Given the description of an element on the screen output the (x, y) to click on. 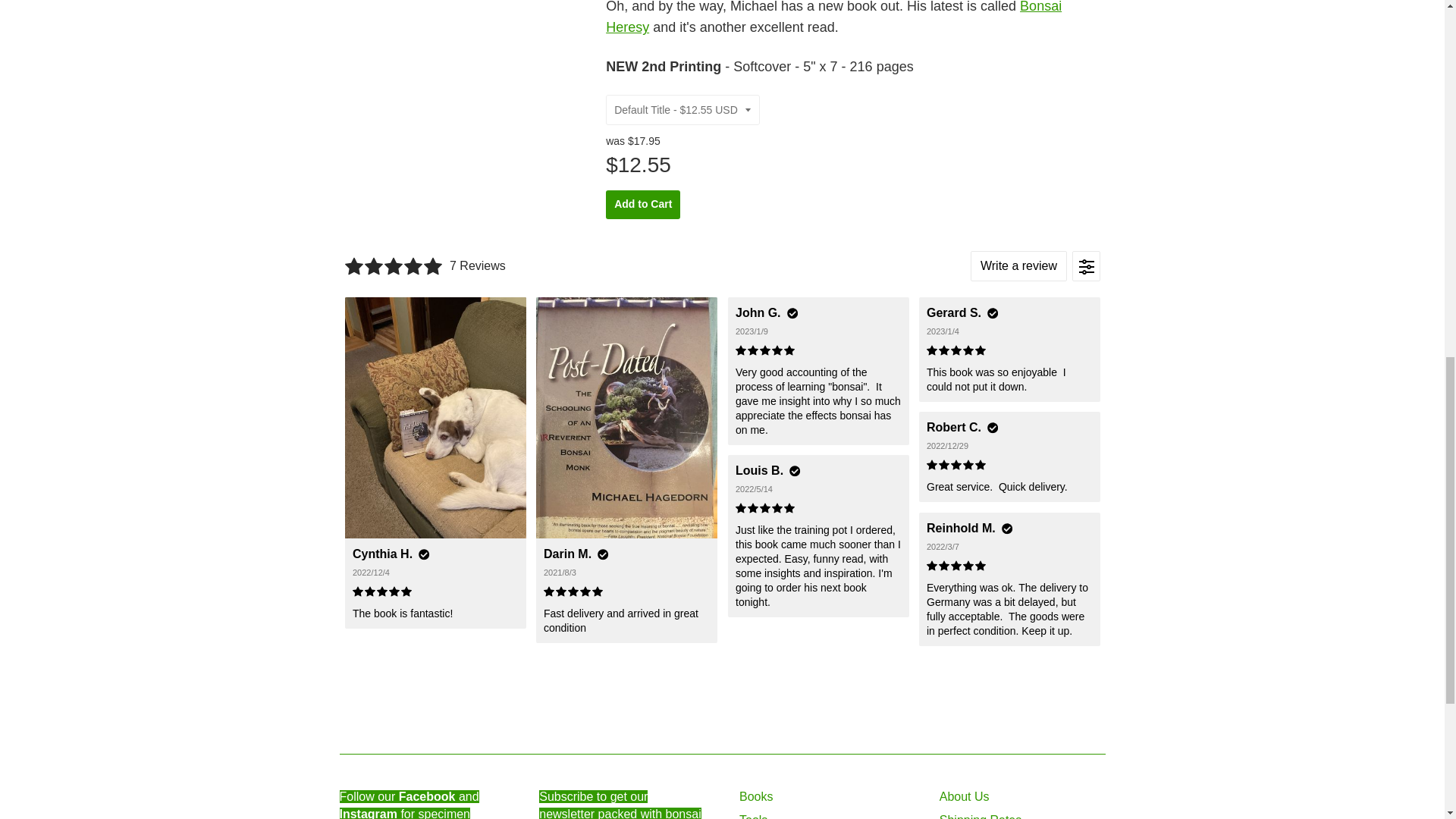
Facebook (426, 796)
Tools (753, 816)
Instagram (368, 813)
Books (756, 796)
Bonsai Heresy (833, 18)
Bonsai Heresy (833, 18)
Add to Cart (642, 204)
